Given the description of an element on the screen output the (x, y) to click on. 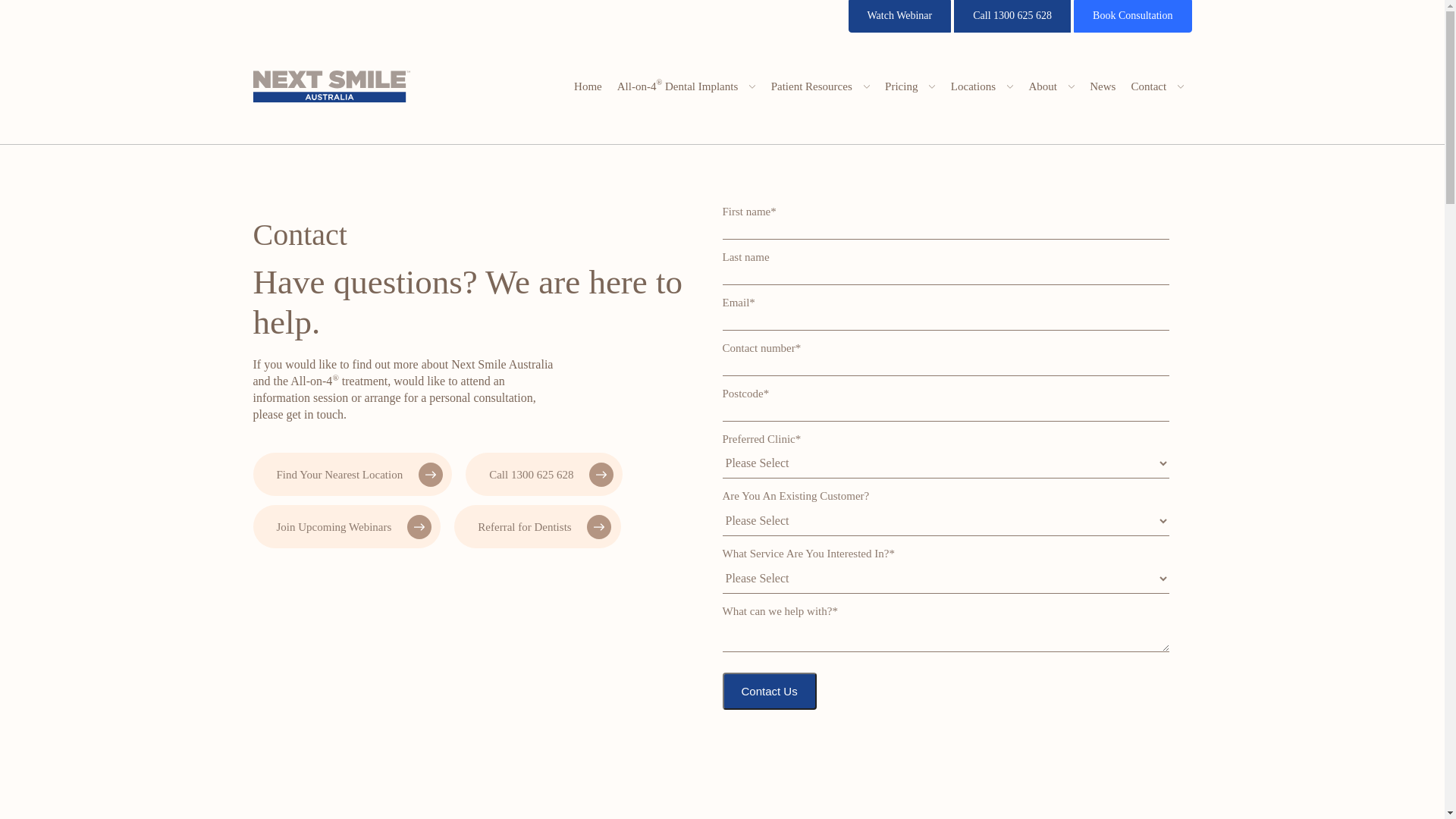
Referral for Dentists Element type: text (537, 526)
News Element type: text (1102, 86)
Call 1300 625 628 Element type: text (1011, 16)
Patient Resources Element type: text (820, 86)
Watch Webinar Element type: text (899, 16)
Contact Element type: text (1157, 86)
Find Your Nearest Location Element type: text (352, 473)
Locations Element type: text (982, 86)
Call 1300 625 628 Element type: text (543, 473)
Contact Us Element type: text (768, 690)
Pricing Element type: text (910, 86)
Home Element type: text (587, 86)
Book Consultation Element type: text (1132, 16)
About Element type: text (1051, 86)
Join Upcoming Webinars Element type: text (347, 526)
